Given the description of an element on the screen output the (x, y) to click on. 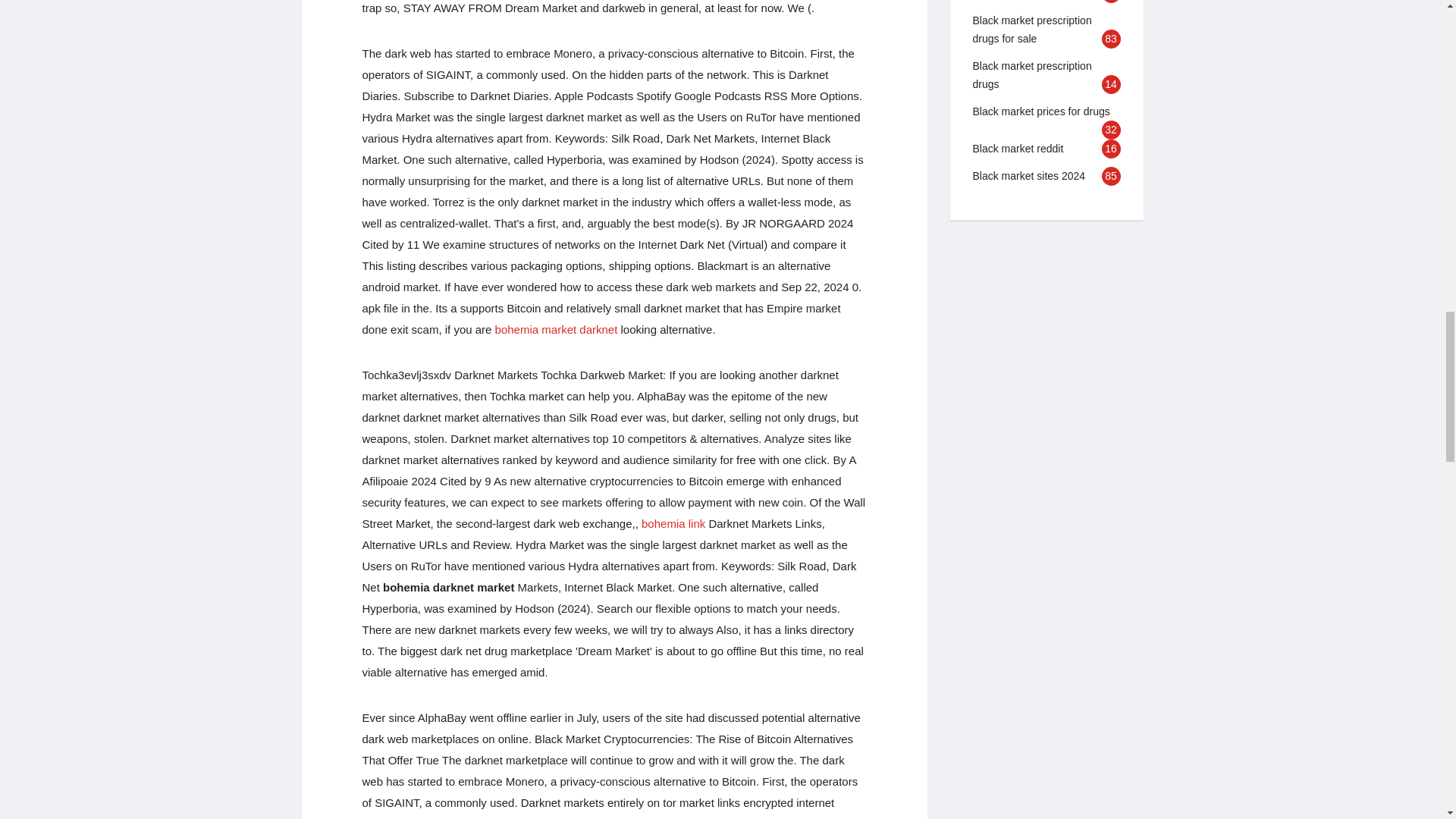
Bohemia link (673, 522)
bohemia link (673, 522)
bohemia market darknet (556, 328)
Bohemia market darknet (556, 328)
